Given the description of an element on the screen output the (x, y) to click on. 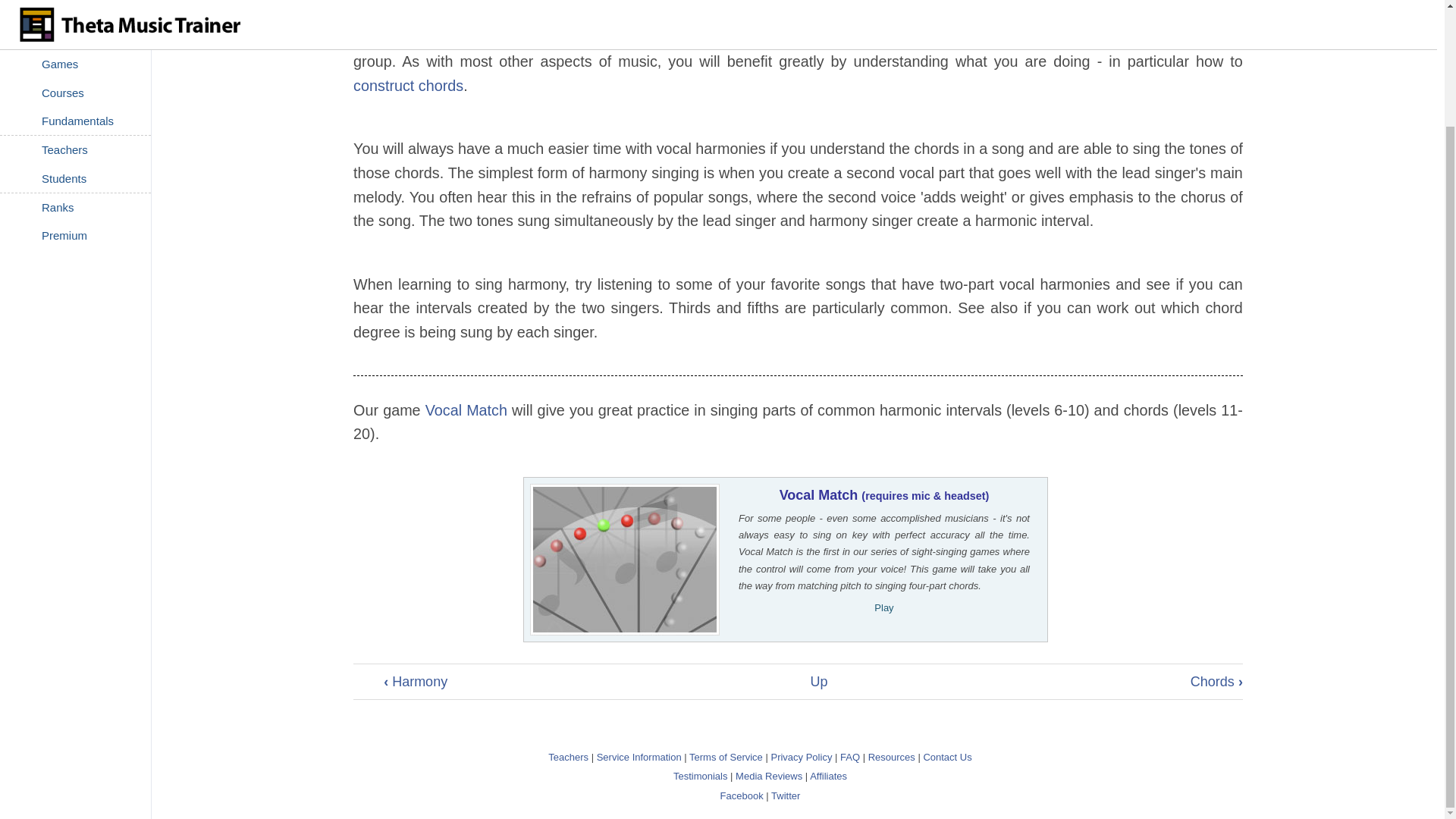
Go to previous page (415, 681)
Go to parent page (818, 681)
Go to next page (1217, 681)
